Given the description of an element on the screen output the (x, y) to click on. 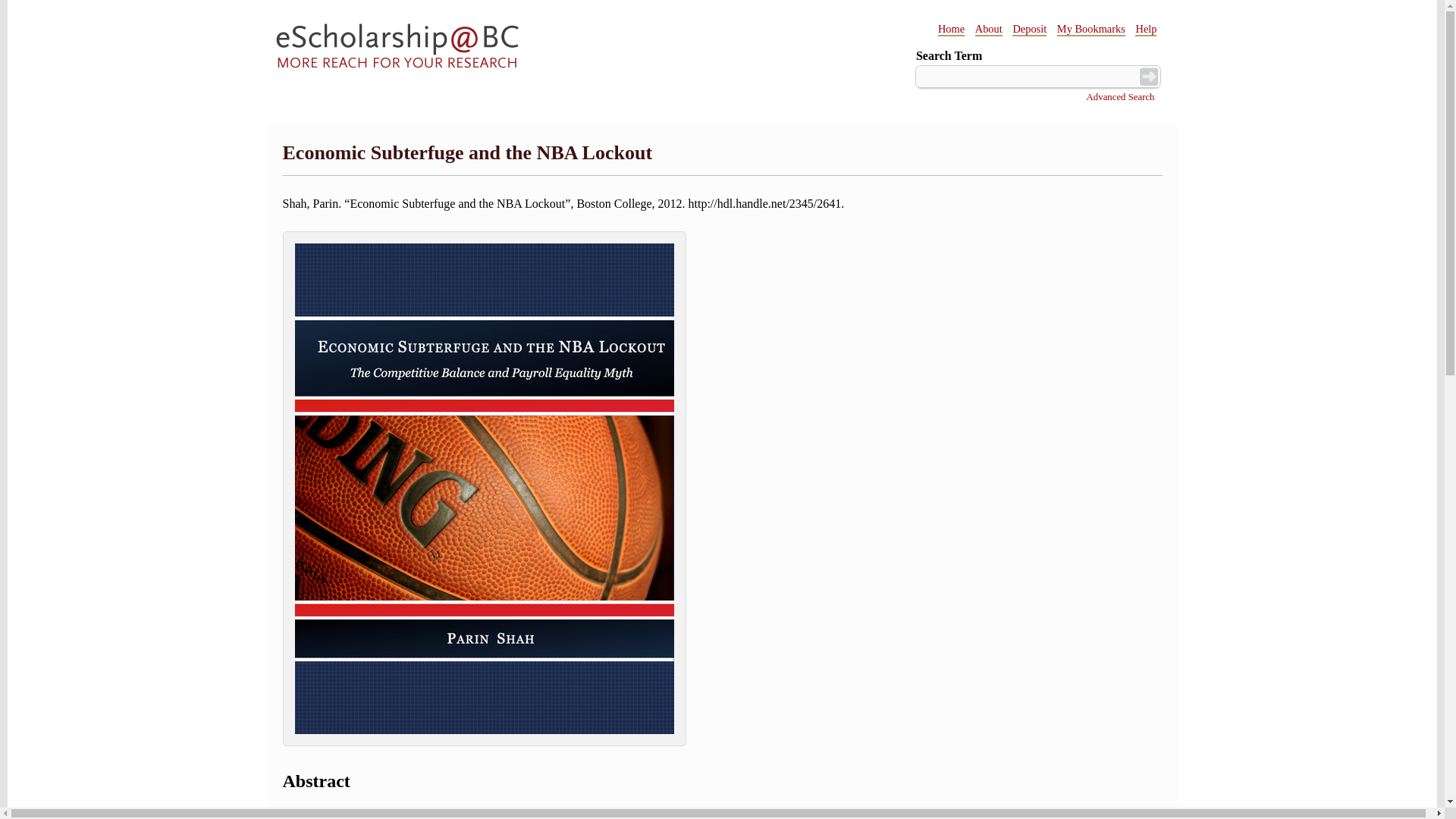
Help (1145, 29)
PDF Datastream (483, 741)
My Bookmarks (1091, 29)
search (1148, 76)
Advanced Search (1120, 96)
Home (950, 29)
About (989, 29)
Home (398, 48)
Deposit (1028, 29)
search (1148, 76)
